Given the description of an element on the screen output the (x, y) to click on. 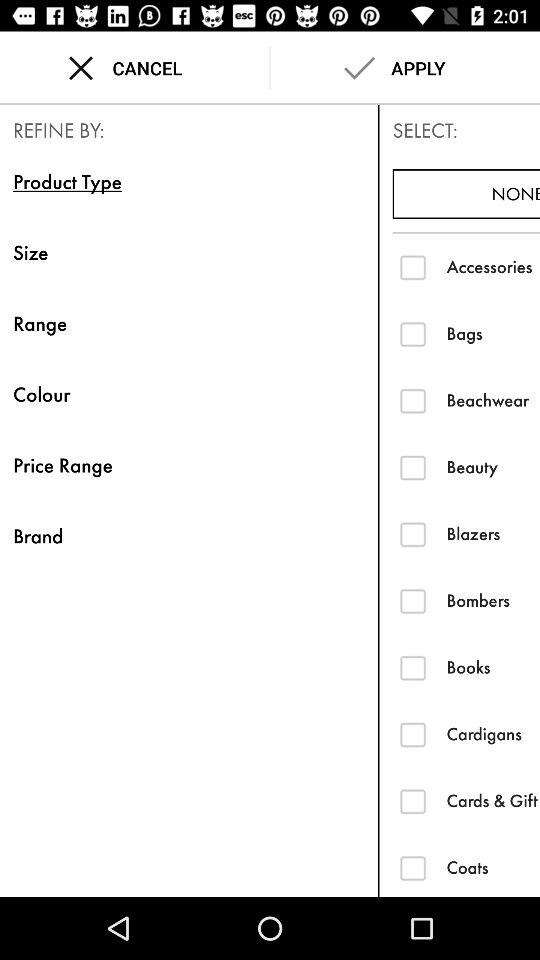
jump to the beachwear icon (493, 400)
